Given the description of an element on the screen output the (x, y) to click on. 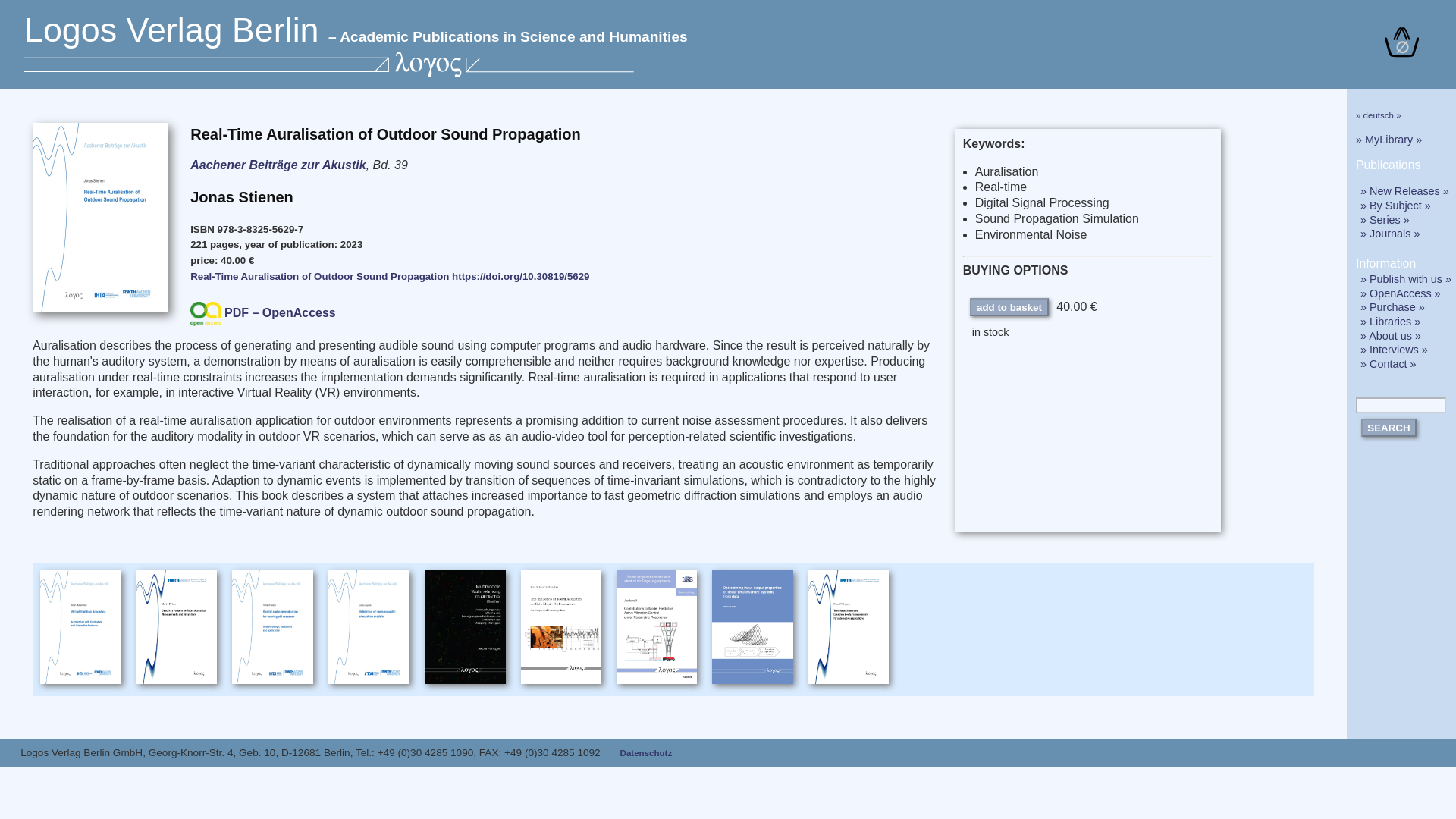
add to basket (1008, 307)
Real-Time Auralisation of Outdoor Sound Propagation (319, 276)
